Given the description of an element on the screen output the (x, y) to click on. 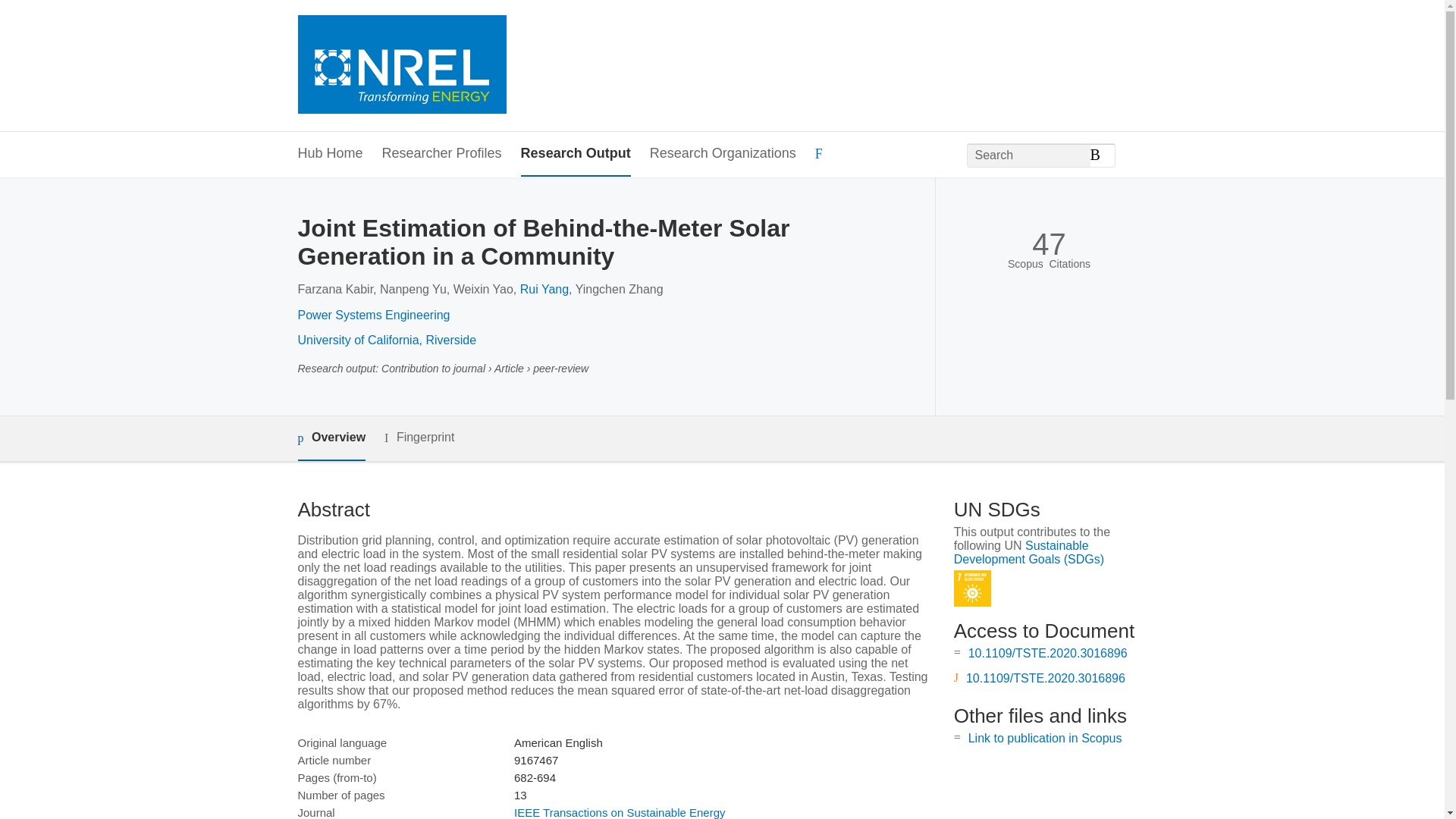
Hub Home (329, 153)
Research Organizations (722, 153)
Power Systems Engineering (373, 314)
Overview (331, 438)
Fingerprint (419, 437)
Research Output (575, 153)
University of California, Riverside (386, 339)
Link to publication in Scopus (1045, 738)
IEEE Transactions on Sustainable Energy (619, 812)
SDG 7 - Affordable and Clean Energy (972, 588)
Researcher Profiles (441, 153)
Rui Yang (544, 288)
National Renewable Energy Laboratory Hub Home (401, 66)
